Given the description of an element on the screen output the (x, y) to click on. 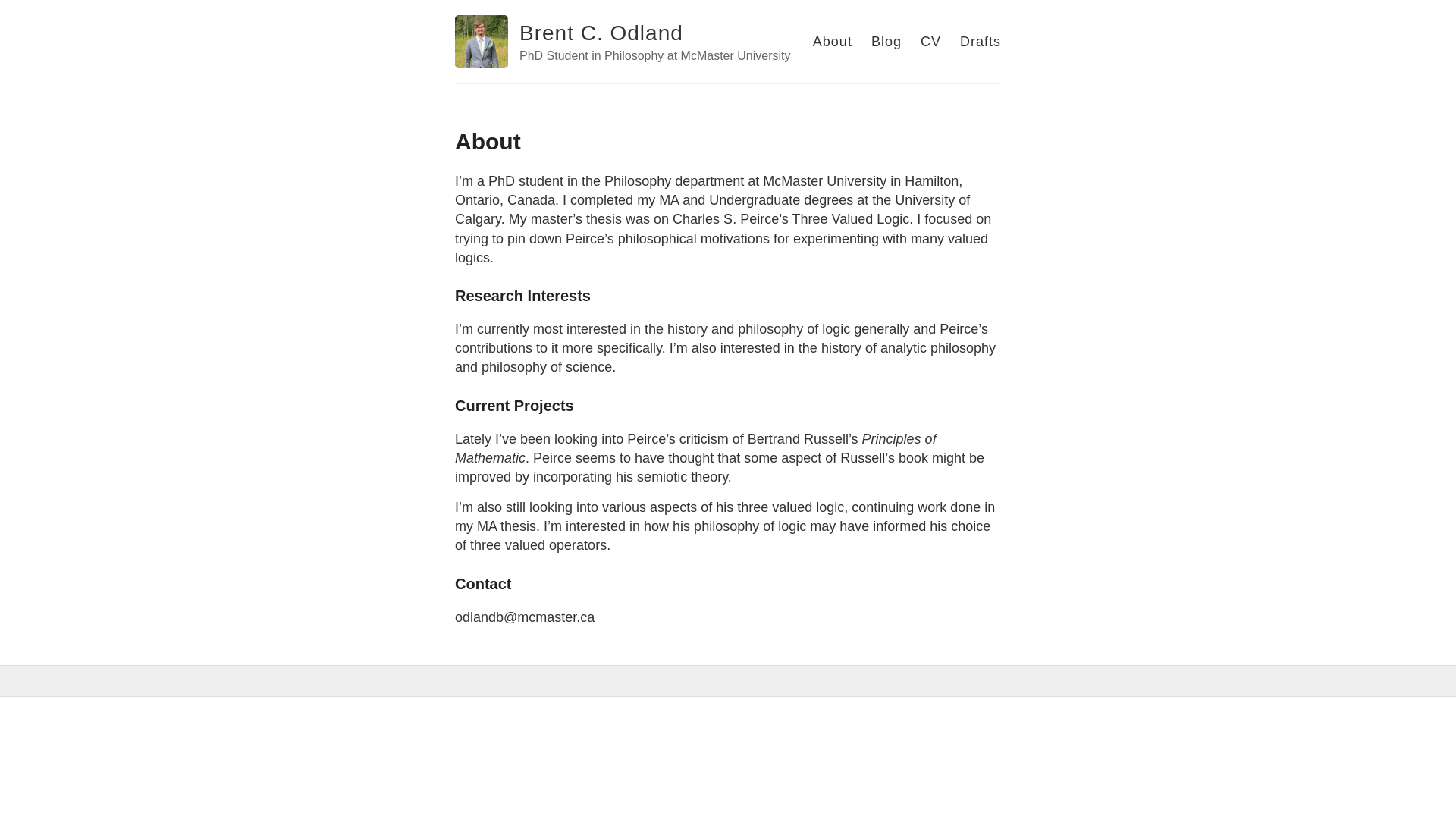
About Element type: text (832, 41)
CV Element type: text (930, 41)
Brent C. Odland Element type: text (601, 32)
Blog Element type: text (886, 41)
Drafts Element type: text (980, 41)
